Given the description of an element on the screen output the (x, y) to click on. 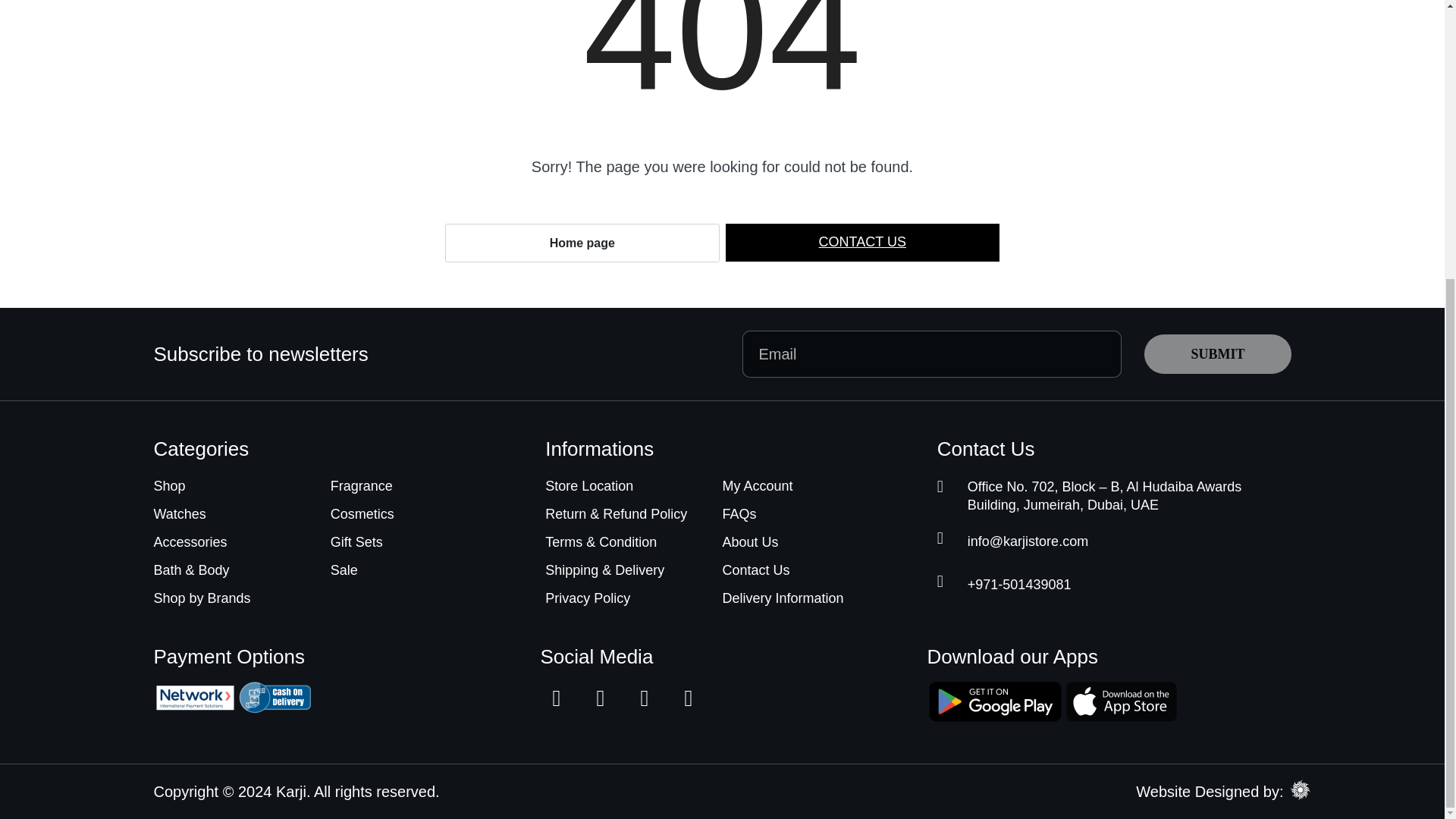
Submit (1217, 353)
